Given the description of an element on the screen output the (x, y) to click on. 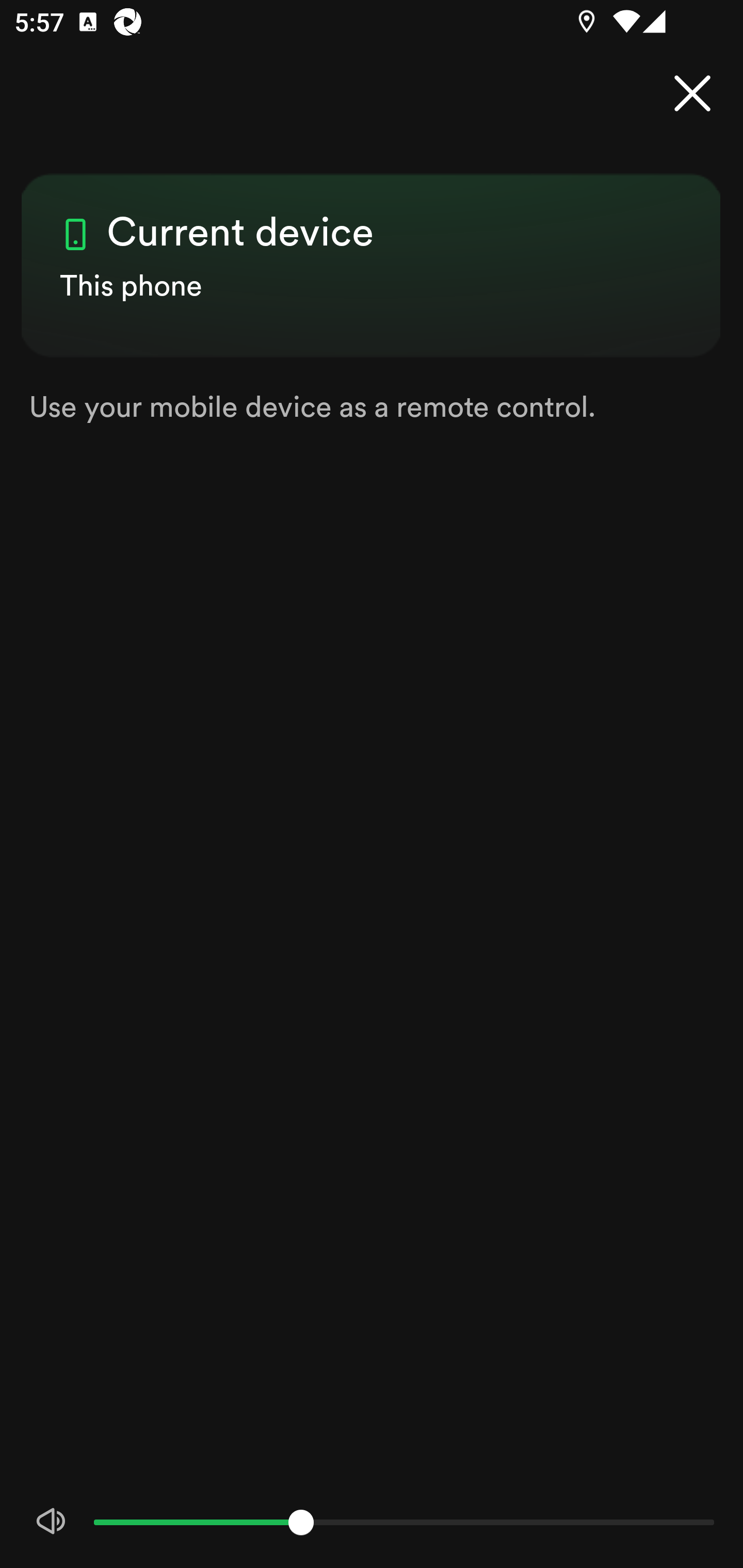
Close (692, 93)
Current device This phone (371, 247)
